Given the description of an element on the screen output the (x, y) to click on. 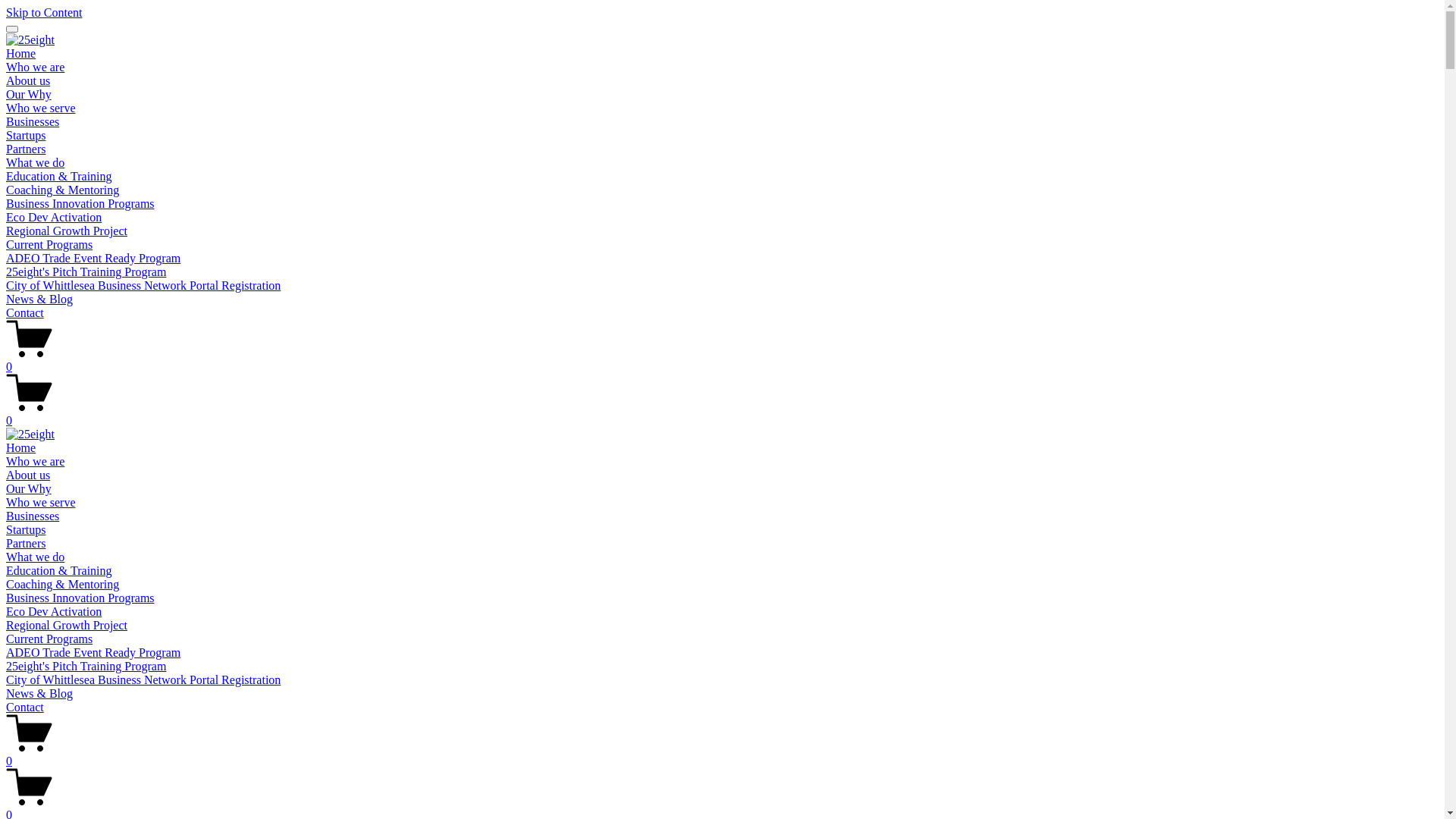
25eight's Pitch Training Program Element type: text (86, 665)
Home Element type: text (20, 53)
Our Why Element type: text (28, 488)
Businesses Element type: text (32, 121)
Who we serve Element type: text (40, 501)
Current Programs Element type: text (49, 244)
Our Why Element type: text (28, 93)
What we do Element type: text (35, 556)
Regional Growth Project Element type: text (66, 624)
Partners Element type: text (25, 148)
About us Element type: text (28, 80)
Eco Dev Activation Element type: text (53, 611)
0 Element type: text (722, 754)
Home Element type: text (20, 447)
0 Element type: text (722, 359)
News & Blog Element type: text (39, 298)
0 Element type: text (722, 413)
City of Whittlesea Business Network Portal Registration Element type: text (143, 285)
Who we are Element type: text (35, 66)
Who we serve Element type: text (40, 107)
Who we are Element type: text (35, 461)
News & Blog Element type: text (39, 693)
About us Element type: text (28, 474)
Eco Dev Activation Element type: text (53, 216)
Contact Element type: text (24, 706)
Contact Element type: text (24, 312)
Skip to Content Element type: text (43, 12)
Regional Growth Project Element type: text (66, 230)
Startups Element type: text (25, 529)
Startups Element type: text (25, 134)
City of Whittlesea Business Network Portal Registration Element type: text (143, 679)
Business Innovation Programs Element type: text (80, 597)
Education & Training Element type: text (59, 175)
What we do Element type: text (35, 162)
ADEO Trade Event Ready Program Element type: text (93, 652)
Coaching & Mentoring Element type: text (62, 583)
ADEO Trade Event Ready Program Element type: text (93, 257)
Current Programs Element type: text (49, 638)
25eight's Pitch Training Program Element type: text (86, 271)
Business Innovation Programs Element type: text (80, 203)
Education & Training Element type: text (59, 570)
Partners Element type: text (25, 542)
Coaching & Mentoring Element type: text (62, 189)
Businesses Element type: text (32, 515)
